Given the description of an element on the screen output the (x, y) to click on. 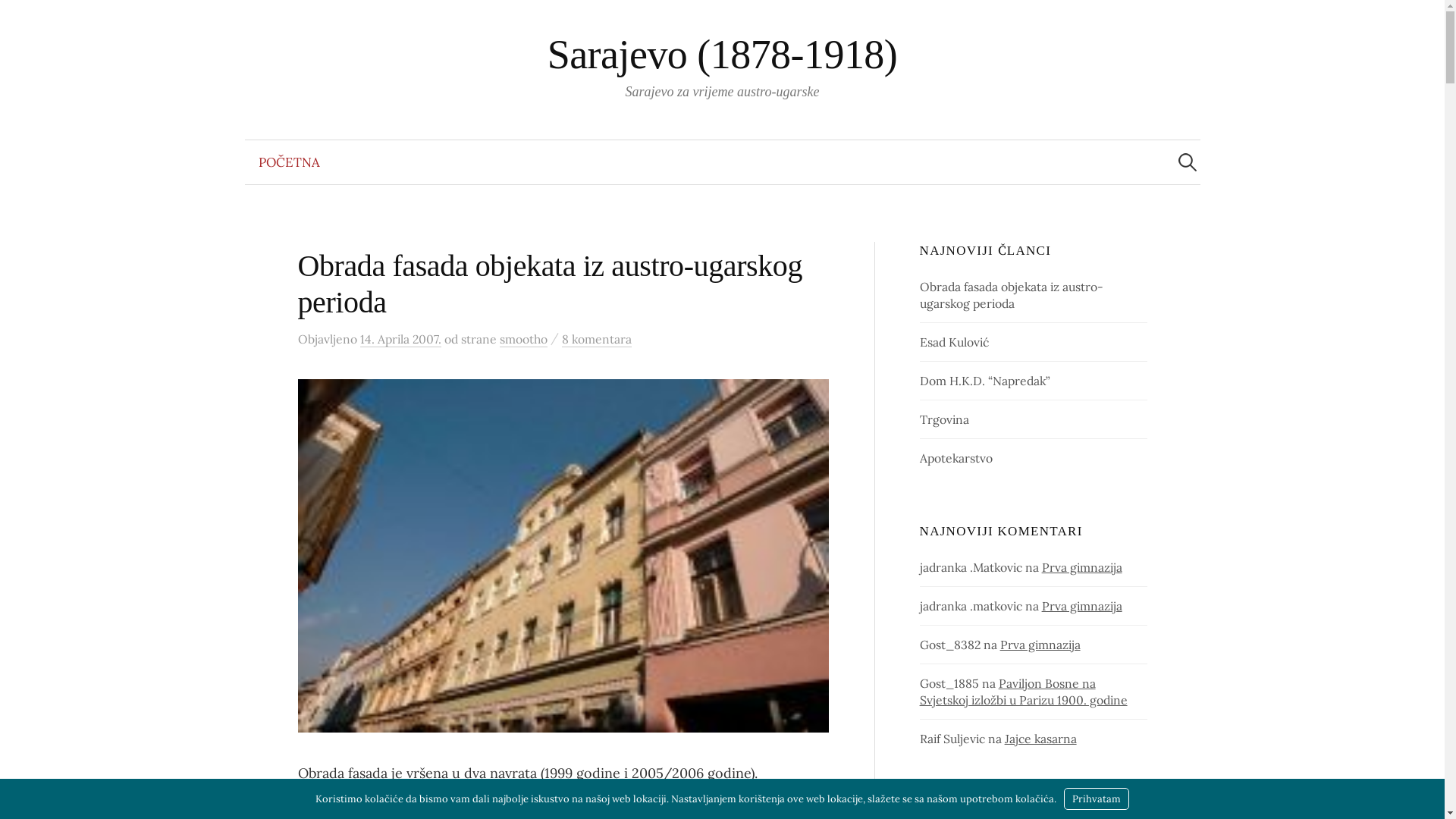
14. Aprila 2007. Element type: text (399, 339)
Apotekarstvo Element type: text (955, 457)
Jajce kasarna Element type: text (1040, 738)
Obrada fasada objekata iz austro-ugarskog perioda Element type: text (549, 283)
Prihvatam Element type: text (1096, 798)
Prva gimnazija Element type: text (1040, 644)
smootho Element type: text (522, 339)
Sarajevo (1878-1918) Element type: text (722, 54)
Trgovina Element type: text (944, 418)
Prva gimnazija Element type: text (1081, 566)
Obrada fasada objekata iz austro-ugarskog perioda Element type: text (1011, 294)
Prva gimnazija Element type: text (1081, 605)
Pretraga Element type: text (18, 18)
